Given the description of an element on the screen output the (x, y) to click on. 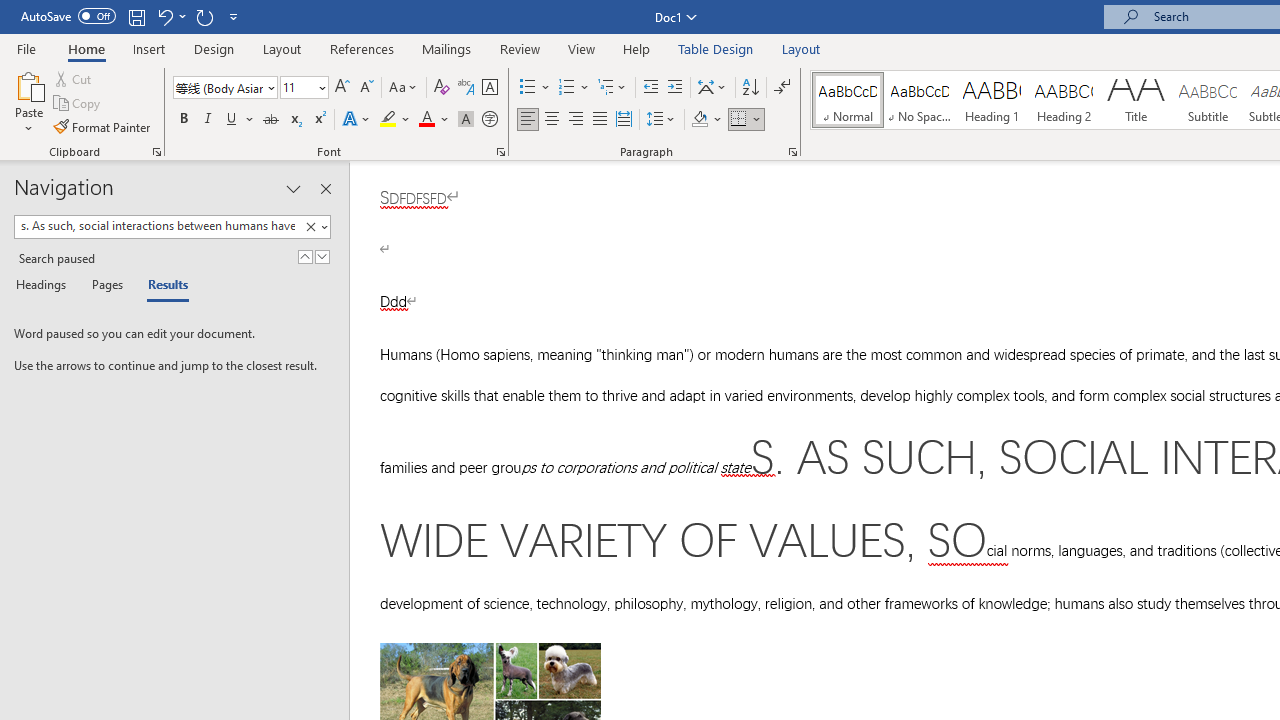
Heading 2 (1063, 100)
Previous Result (304, 256)
Clear Formatting (442, 87)
Text Highlight Color (395, 119)
Distributed (623, 119)
Italic (207, 119)
Format Painter (103, 126)
Undo Style (164, 15)
